Given the description of an element on the screen output the (x, y) to click on. 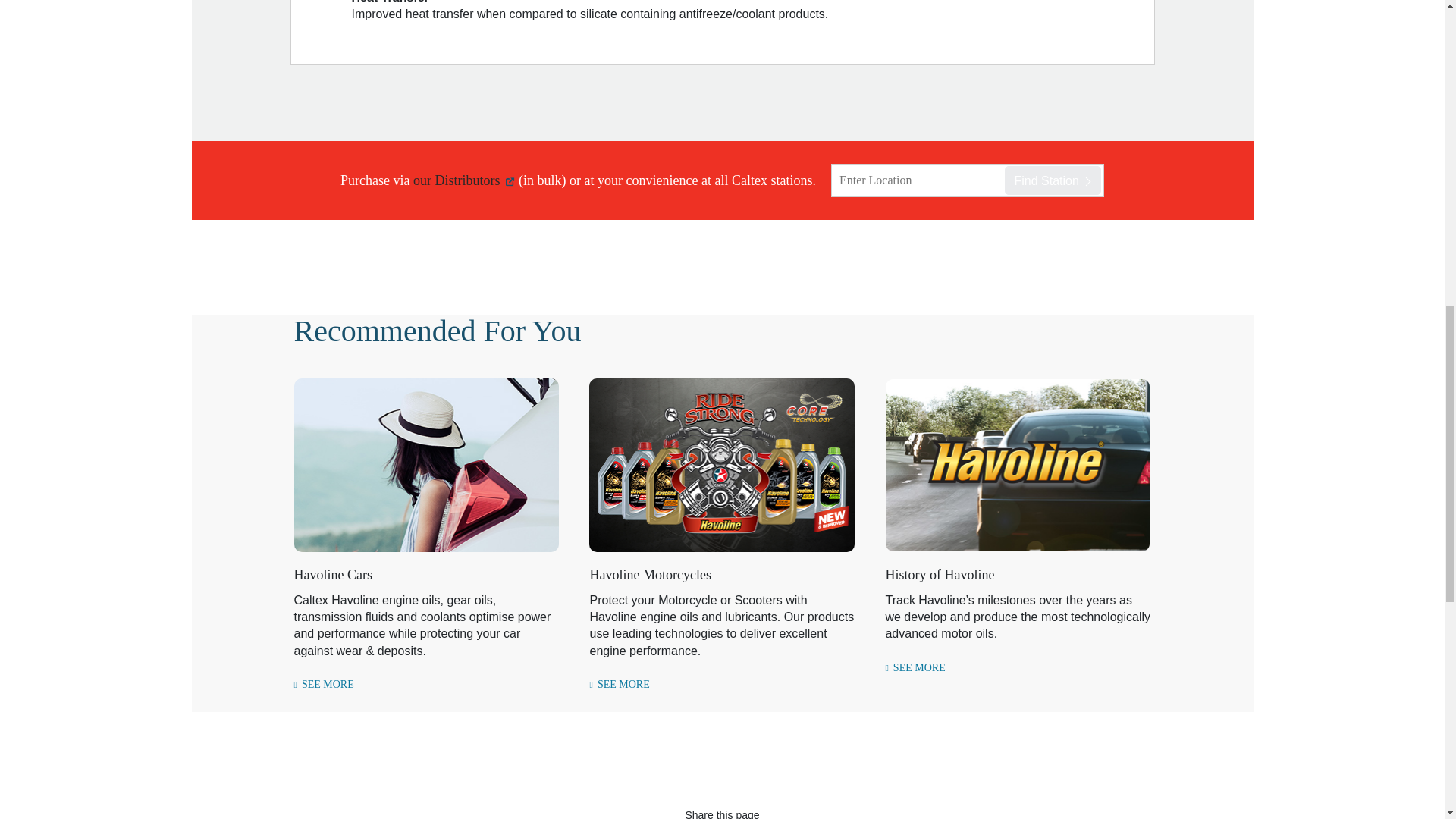
See More (914, 667)
See More (619, 684)
See More (323, 684)
